Given the description of an element on the screen output the (x, y) to click on. 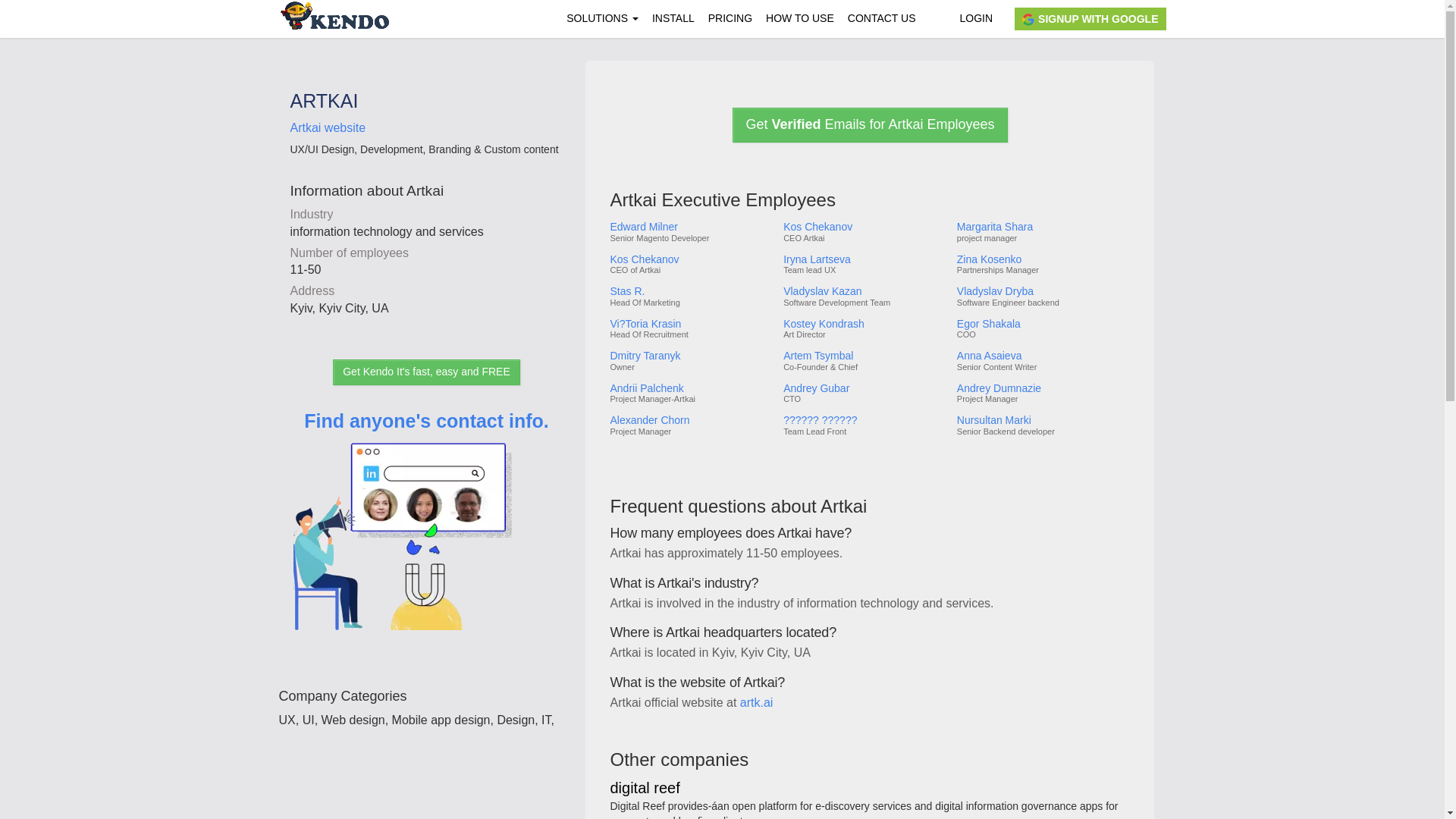
Kos Chekanov (690, 259)
Vladyslav Kazan (863, 291)
CONTACT US (882, 18)
Kostey Kondrash (863, 324)
Andrii Palchenk (690, 388)
Edward Milner (690, 226)
PRICING (729, 18)
Dmitry Taranyk (690, 355)
Andrey Dumnazie (1041, 388)
Kos Chekanov (863, 226)
